Given the description of an element on the screen output the (x, y) to click on. 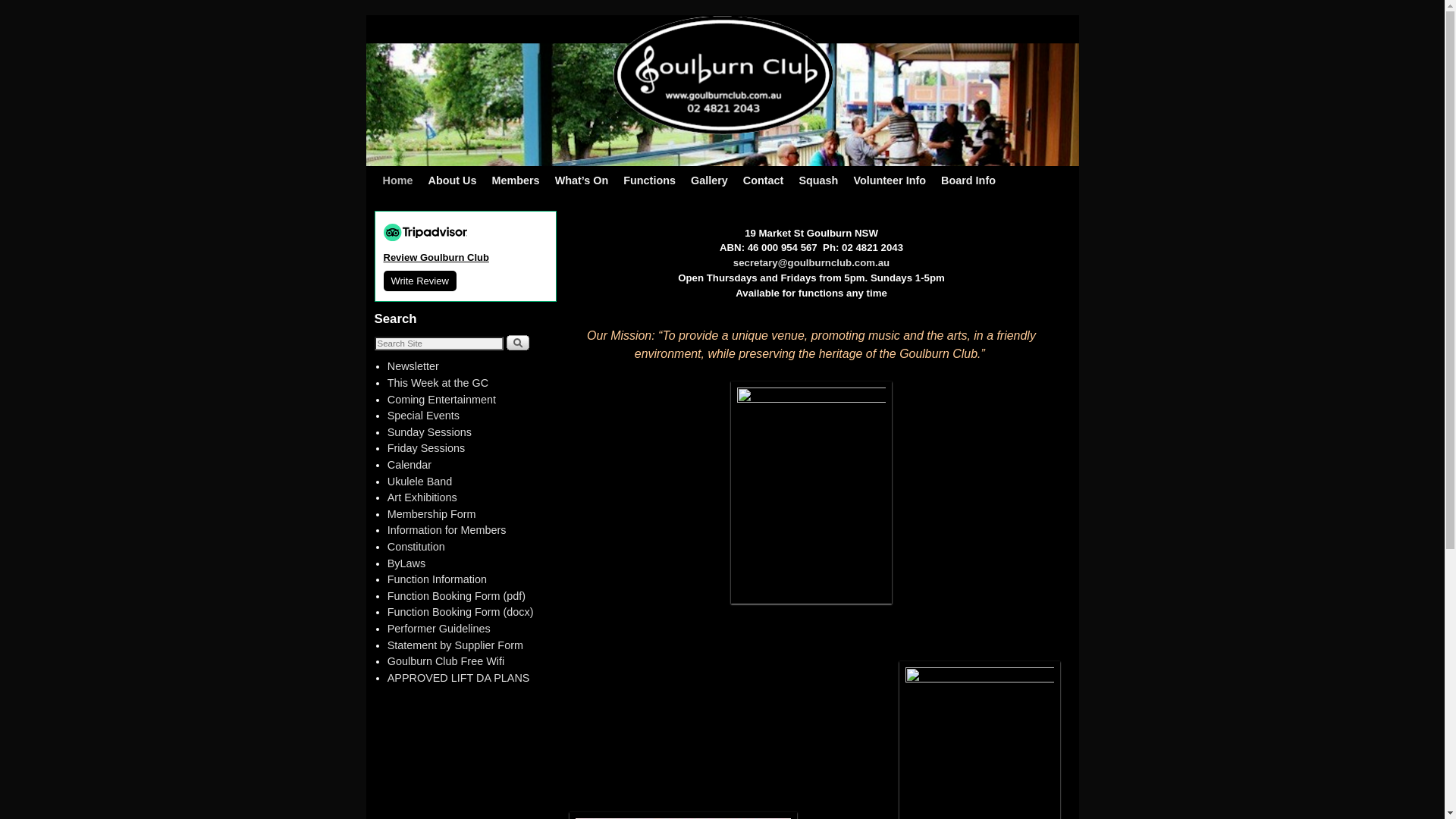
Newsletter Element type: text (413, 366)
Statement by Supplier Form Element type: text (455, 645)
Constitution Element type: text (416, 546)
Coming Entertainment Element type: text (441, 399)
Home Element type: text (397, 180)
Sunday Sessions Element type: text (429, 432)
Board Info Element type: text (968, 180)
Calendar Element type: text (409, 464)
Contact Element type: text (763, 180)
Art Exhibitions Element type: text (422, 497)
Members Element type: text (514, 180)
Goulburn Club Free Wifi Element type: text (445, 661)
ByLaws Element type: text (406, 563)
APPROVED LIFT DA PLANS Element type: text (458, 677)
Function Information Element type: text (436, 579)
Performer Guidelines Element type: text (438, 628)
Functions Element type: text (649, 180)
Special Events Element type: text (423, 415)
Membership Form Element type: text (431, 514)
Volunteer Info Element type: text (889, 180)
Write Review Element type: text (419, 280)
Friday Sessions Element type: text (425, 448)
Skip to primary content Element type: text (411, 172)
Ukulele Band Element type: text (419, 481)
Function Booking Form (pdf) Element type: text (456, 595)
secretary@goulburnclub.com.au Element type: text (811, 262)
Skip to secondary content Element type: text (417, 172)
Gallery Element type: text (709, 180)
Function Booking Form (docx) Element type: text (460, 611)
Squash Element type: text (817, 180)
About Us Element type: text (451, 180)
Information for Members Element type: text (446, 530)
This Week at the GC Element type: text (437, 382)
